Given the description of an element on the screen output the (x, y) to click on. 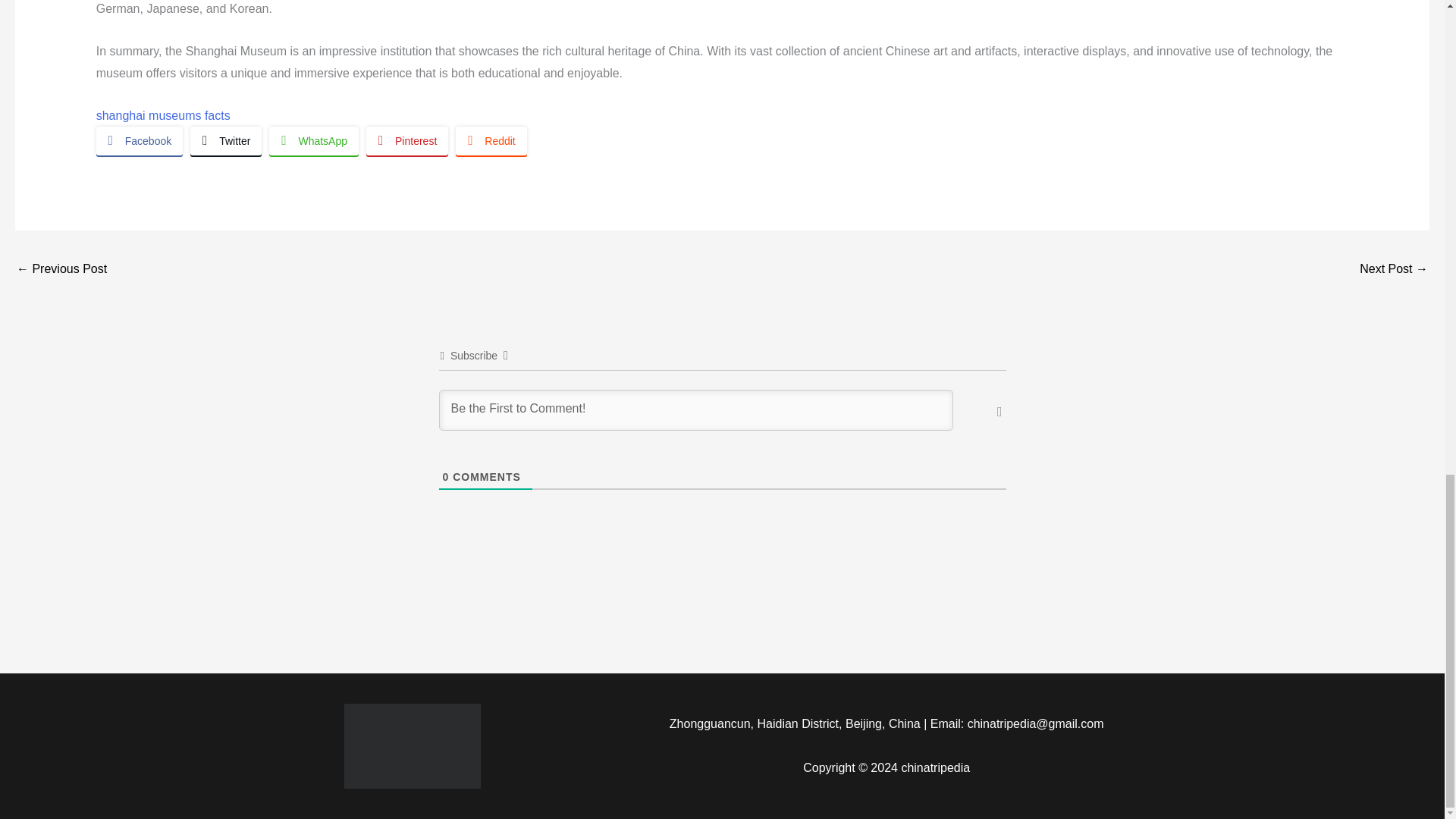
5 things to do in Old Summer Palace (61, 270)
